Given the description of an element on the screen output the (x, y) to click on. 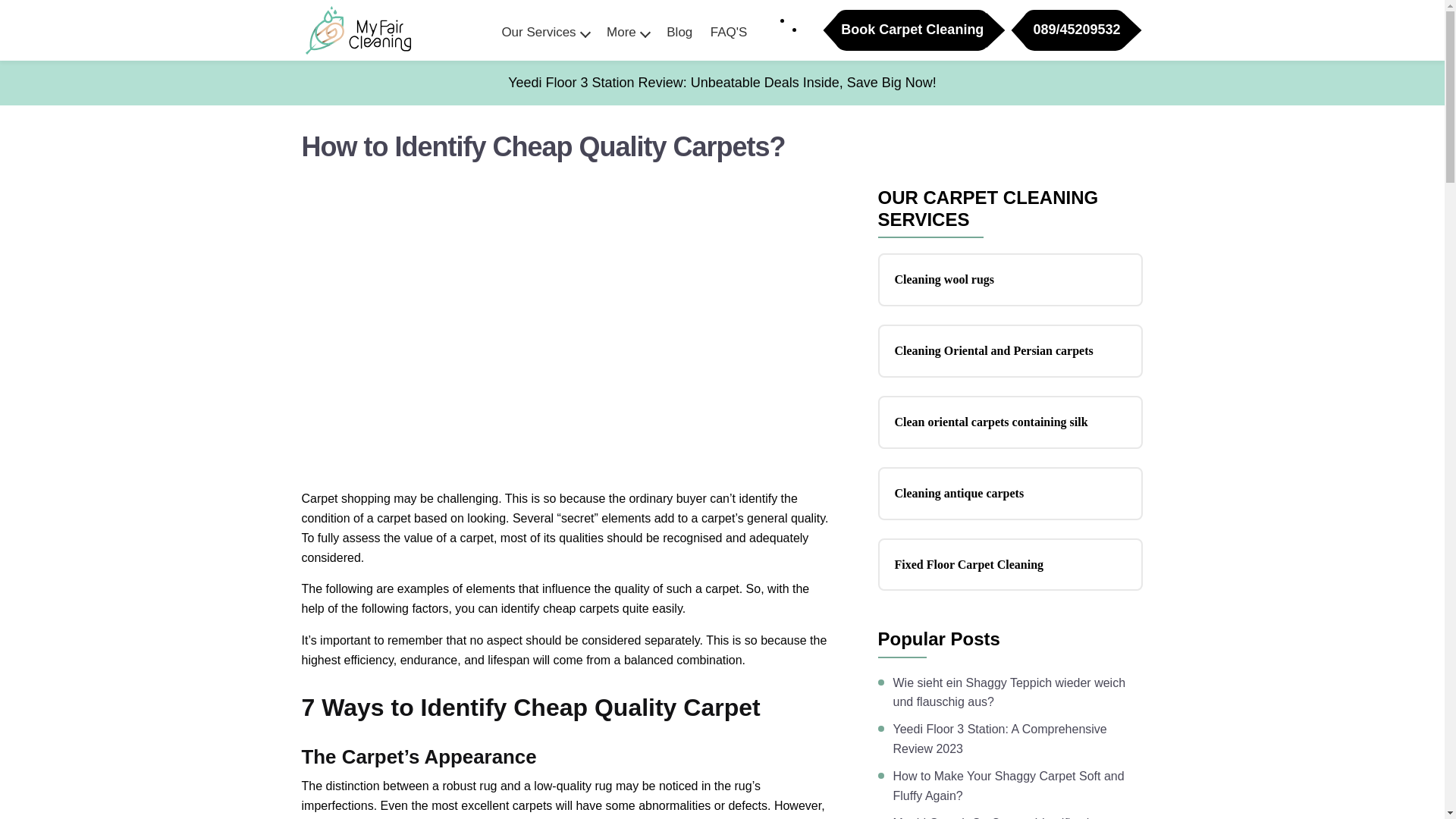
Our Services (544, 30)
Our Services (544, 30)
Book Carpet Cleaning (912, 29)
